Given the description of an element on the screen output the (x, y) to click on. 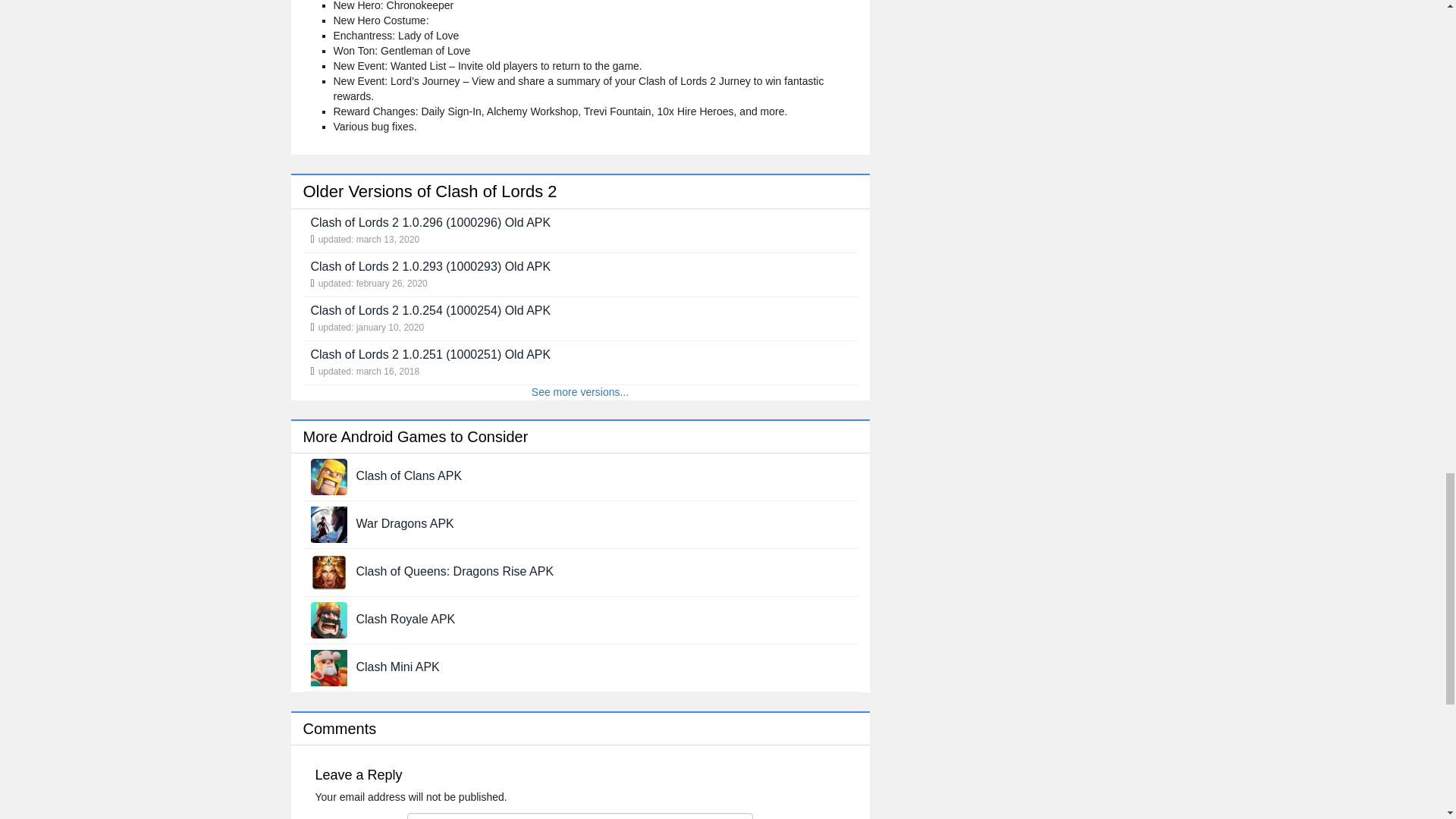
Clash Mini APK (397, 666)
Clash Royale APK (405, 618)
Clash of Clans Latest Version 16.0.7 APK Download (329, 475)
See more versions... (579, 391)
War Dragons Latest Version 6.30 APK Download (329, 522)
Clash Mini Latest Version 1.2592.1 APK Download (329, 666)
Clash of Queens: Dragons Rise APK (455, 571)
Clash of Clans APK (409, 475)
Clash Royale Latest Version 3.6.0 APK Download (329, 618)
Clash of Clans Latest Version 16.0.7 APK Download (409, 475)
War Dragons Latest Version 6.30 APK Download (405, 522)
War Dragons APK (405, 522)
Clash Royale Latest Version 3.6.0 APK Download (405, 618)
